Given the description of an element on the screen output the (x, y) to click on. 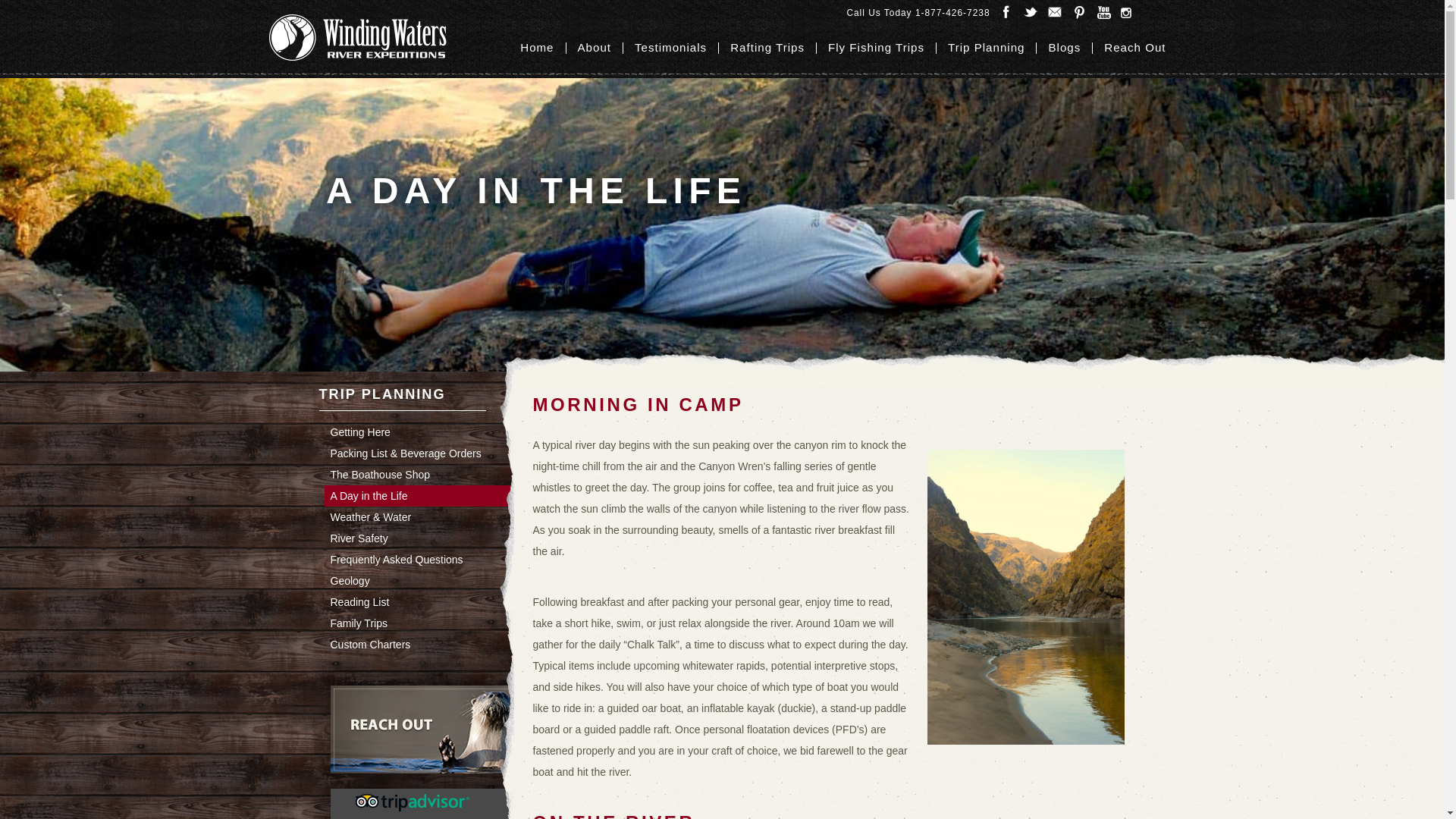
Geology (429, 580)
Twitter (1029, 12)
Custom Charters (429, 644)
River Safety (429, 538)
1-877-426-7238 (952, 12)
Rafting Trips (767, 47)
Reading List (429, 601)
Fly Fishing Trips (876, 47)
Frequently Asked Questions (429, 559)
Blogs (1064, 47)
Instagram (1126, 12)
TRIP PLANNING (408, 398)
Getting Here (429, 432)
google (1102, 12)
Pintrest (1077, 12)
